Given the description of an element on the screen output the (x, y) to click on. 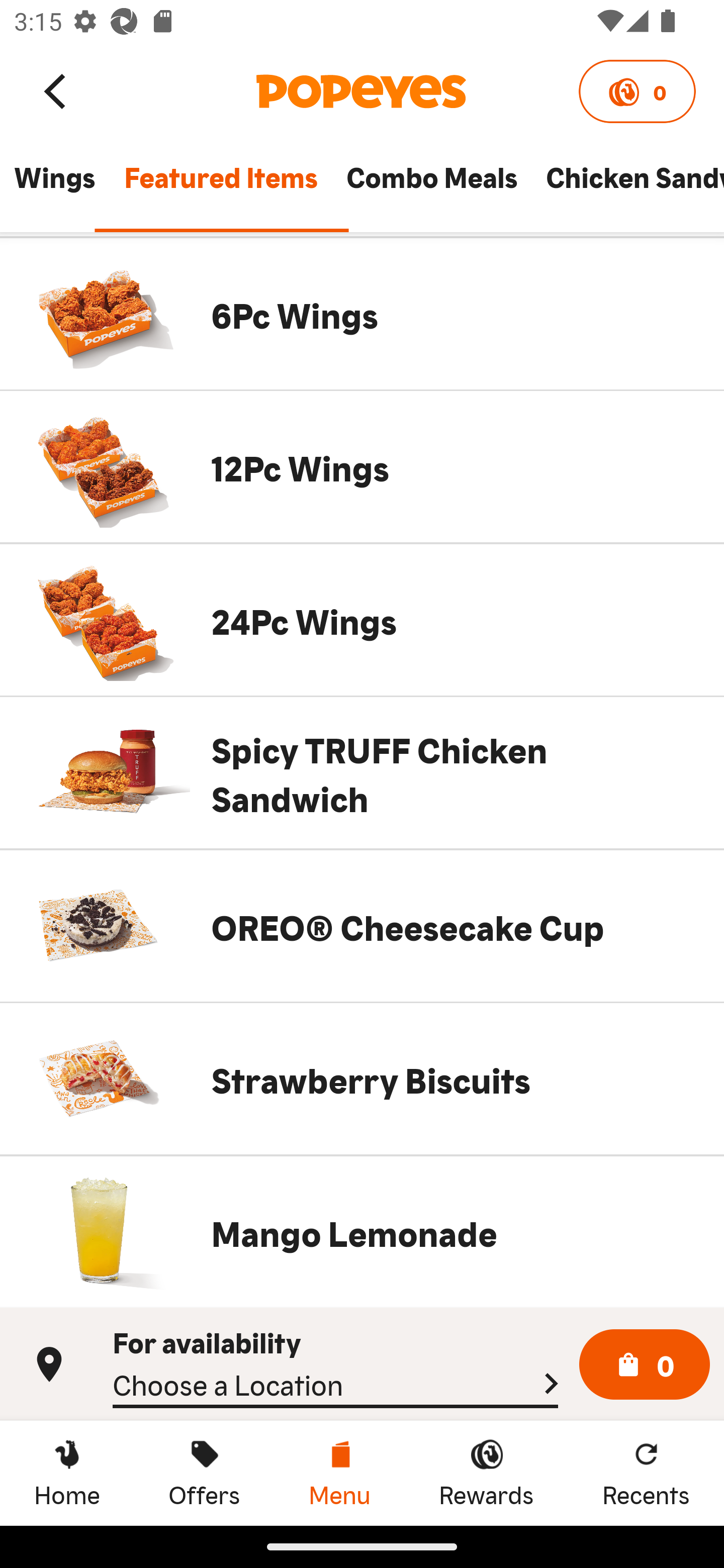
Back (56, 90)
0 Points 0 (636, 91)
Wings (54, 186)
Featured Items (220, 186)
Combo Meals (431, 186)
Chicken Sandwich   (627, 186)
0 Cart total  0 (644, 1364)
Home Home Home (66, 1472)
Offers Offers Offers (203, 1472)
Menu, current page Menu Menu, current page (339, 1472)
Rewards Rewards Rewards (486, 1472)
Recents Recents Recents (646, 1472)
